Given the description of an element on the screen output the (x, y) to click on. 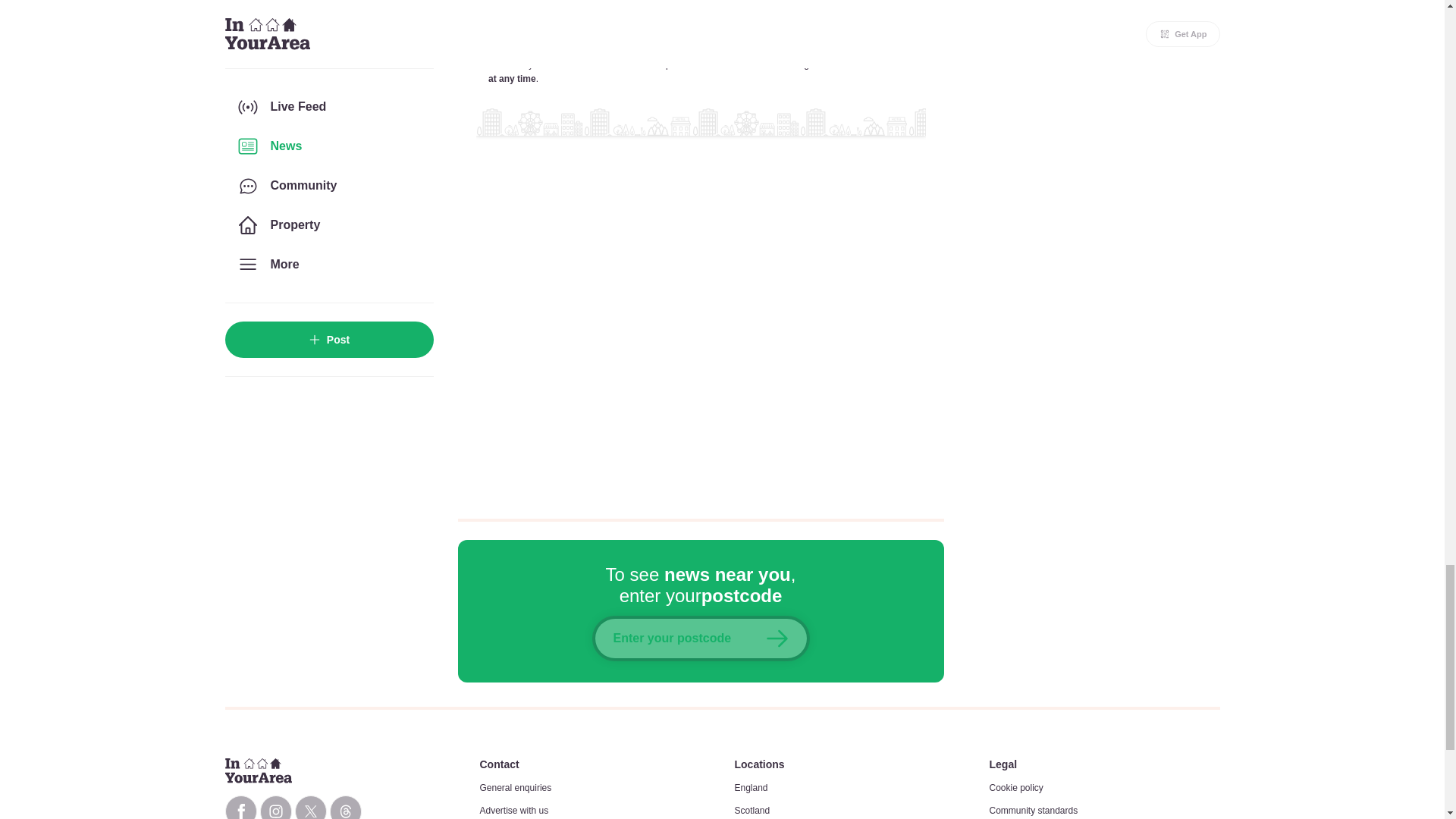
InYourArea Threads (345, 807)
InYourArea Instagram (275, 807)
InYourArea Facebook (240, 807)
InYourArea X (310, 807)
